Given the description of an element on the screen output the (x, y) to click on. 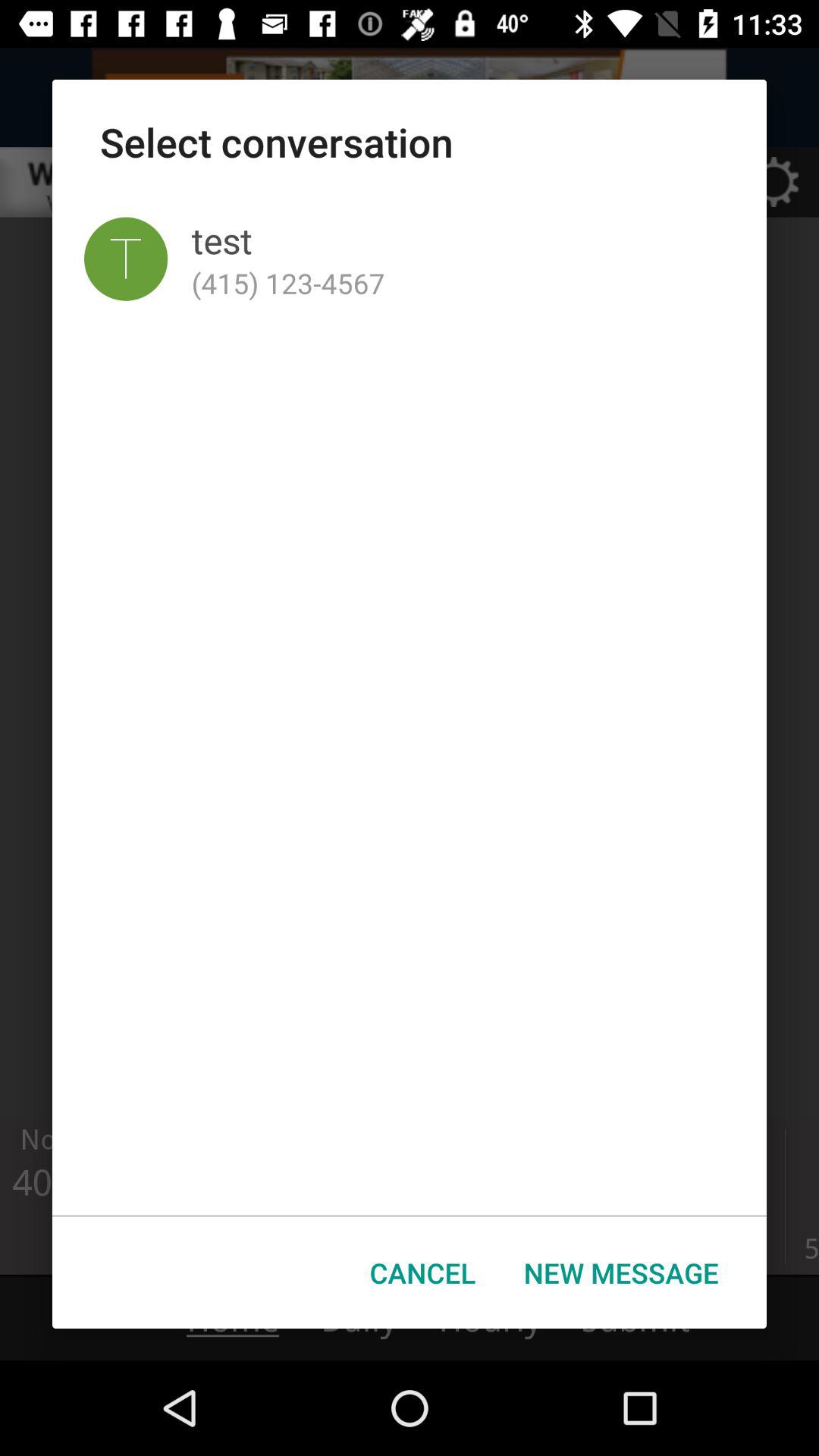
open icon next to the cancel button (620, 1272)
